Given the description of an element on the screen output the (x, y) to click on. 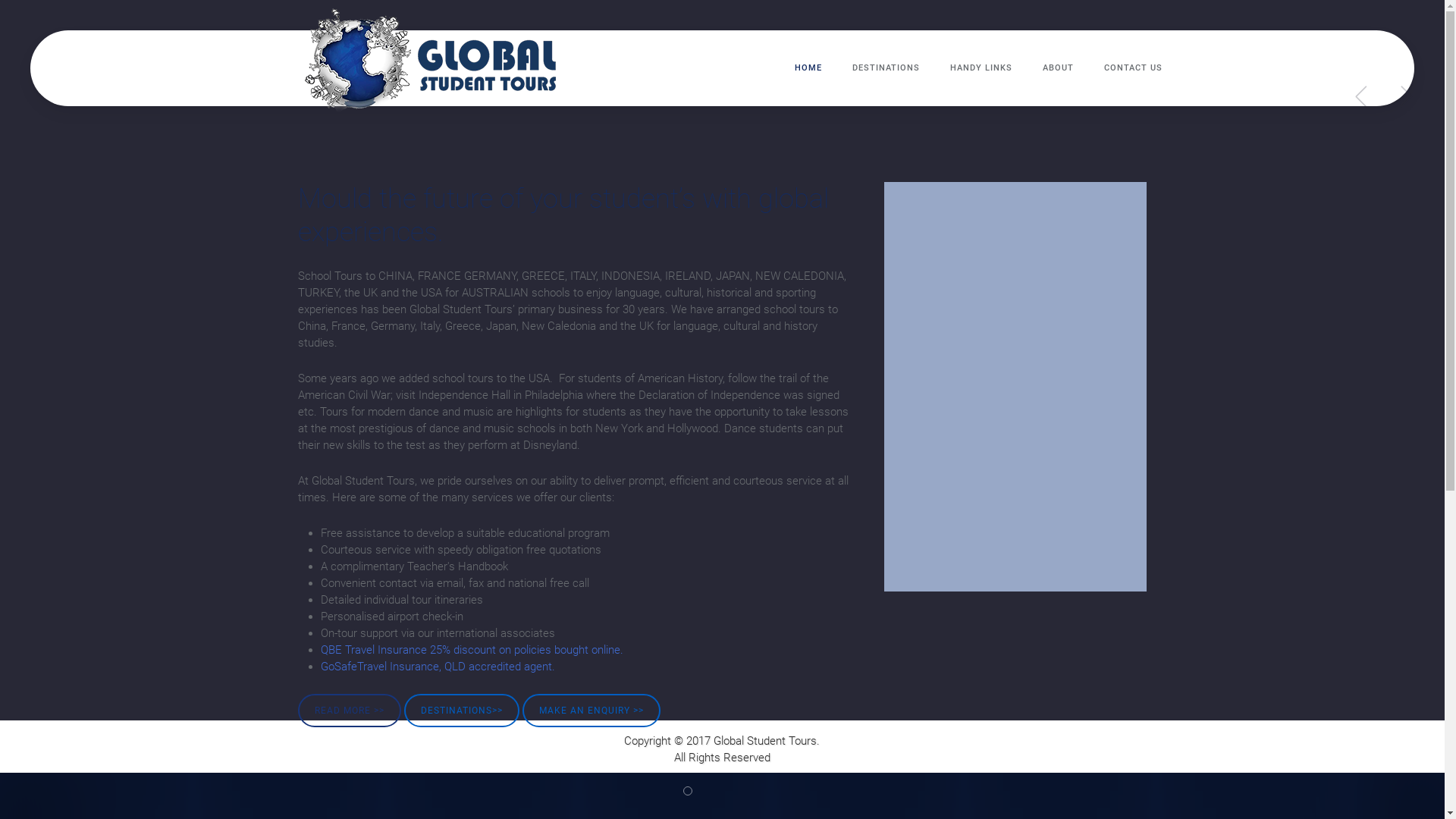
DESTINATIONS Element type: text (886, 68)
HANDY LINKS Element type: text (980, 68)
HOME Element type: text (808, 68)
ABOUT Element type: text (1057, 68)
QBE Travel Insurance 25% discount on policies bought online. Element type: text (471, 649)
GoSafeTravel Insurance, QLD accredited agent. Element type: text (437, 666)
READ MORE >> Element type: text (348, 710)
Student Tours Greece Element type: text (686, 790)
CONTACT US Element type: text (1132, 68)
MAKE AN ENQUIRY >> Element type: text (590, 710)
DESTINATIONS>> Element type: text (460, 710)
